Given the description of an element on the screen output the (x, y) to click on. 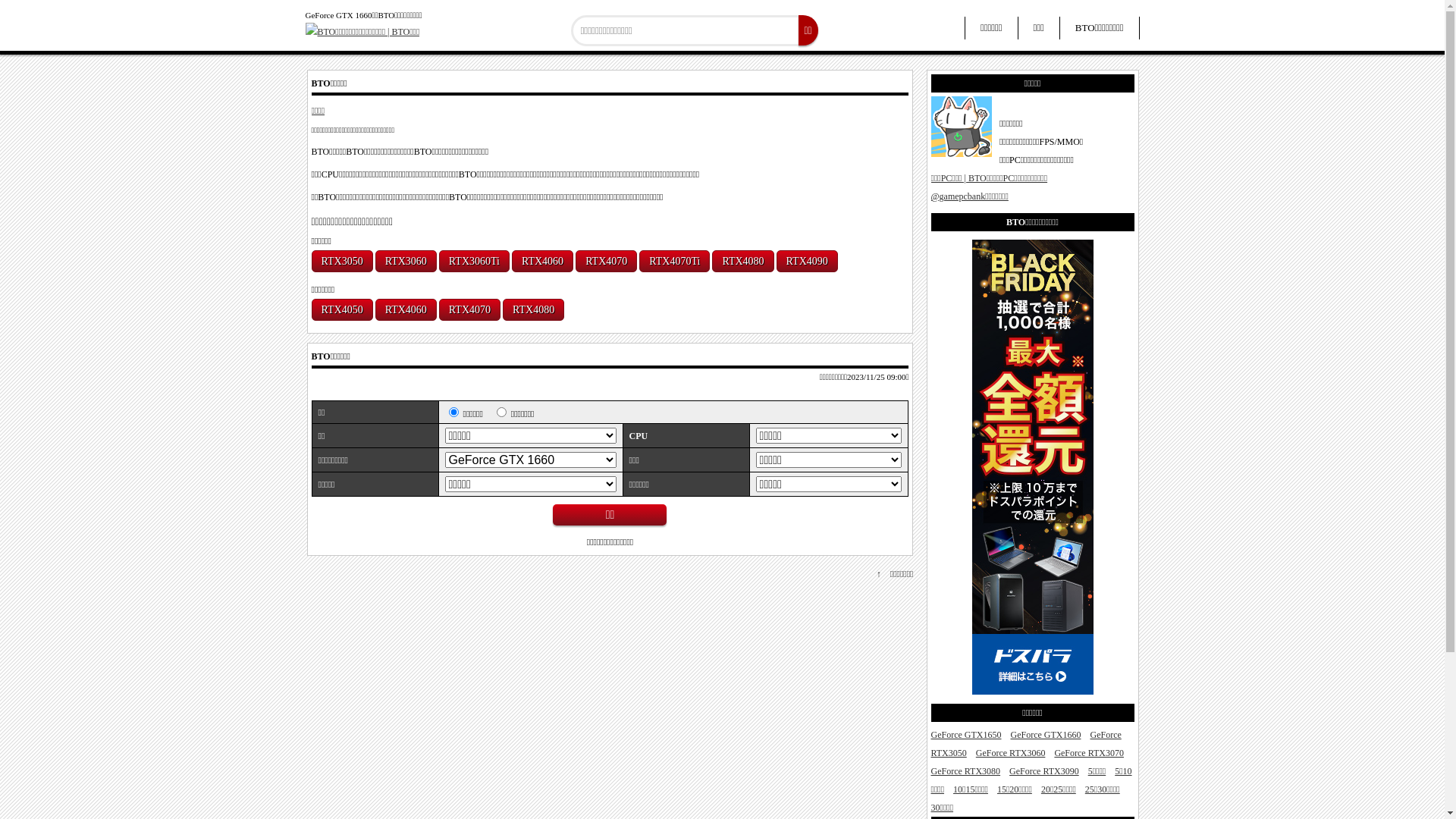
GeForce RTX3080 Element type: text (966, 770)
RTX4070 Element type: text (469, 309)
RTX4080 Element type: text (533, 309)
GeForce RTX3090 Element type: text (1044, 770)
GeForce GTX1660 Element type: text (1045, 734)
RTX4070Ti Element type: text (674, 261)
RTX3050 Element type: text (341, 261)
RTX4050 Element type: text (341, 309)
GeForce RTX3050 Element type: text (1026, 743)
RTX3060 Element type: text (405, 261)
RTX4060 Element type: text (405, 309)
RTX4070 Element type: text (606, 261)
GeForce RTX3070 Element type: text (1088, 752)
RTX3060Ti Element type: text (474, 261)
RTX4090 Element type: text (806, 261)
GeForce GTX1650 Element type: text (966, 734)
RTX4080 Element type: text (742, 261)
GeForce RTX3060 Element type: text (1010, 752)
desktop Element type: text (453, 412)
notebook Element type: text (501, 412)
RTX4060 Element type: text (542, 261)
